Given the description of an element on the screen output the (x, y) to click on. 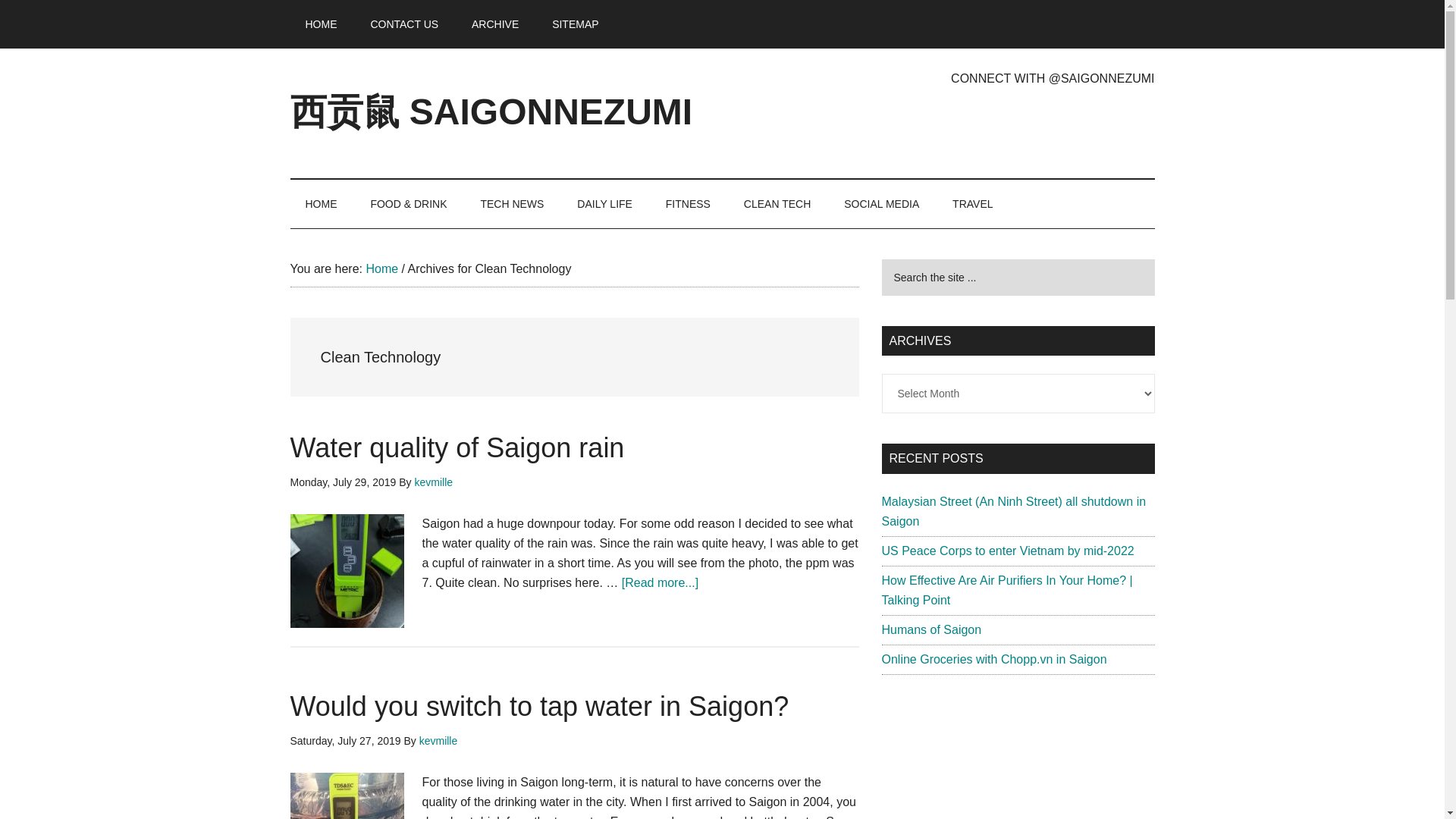
CONTACT US (403, 24)
TECH NEWS (511, 203)
Daily Life in Saigon (604, 203)
DAILY LIFE (604, 203)
HOME (320, 24)
ARCHIVE (495, 24)
SOCIAL MEDIA (881, 203)
CLEAN TECH (777, 203)
FITNESS (687, 203)
Technology News in Vietnam (511, 203)
HOME (320, 203)
Clean Tech in Saigon (777, 203)
Fitness in Saigon (687, 203)
Contact SaigonNezumi (403, 24)
